Given the description of an element on the screen output the (x, y) to click on. 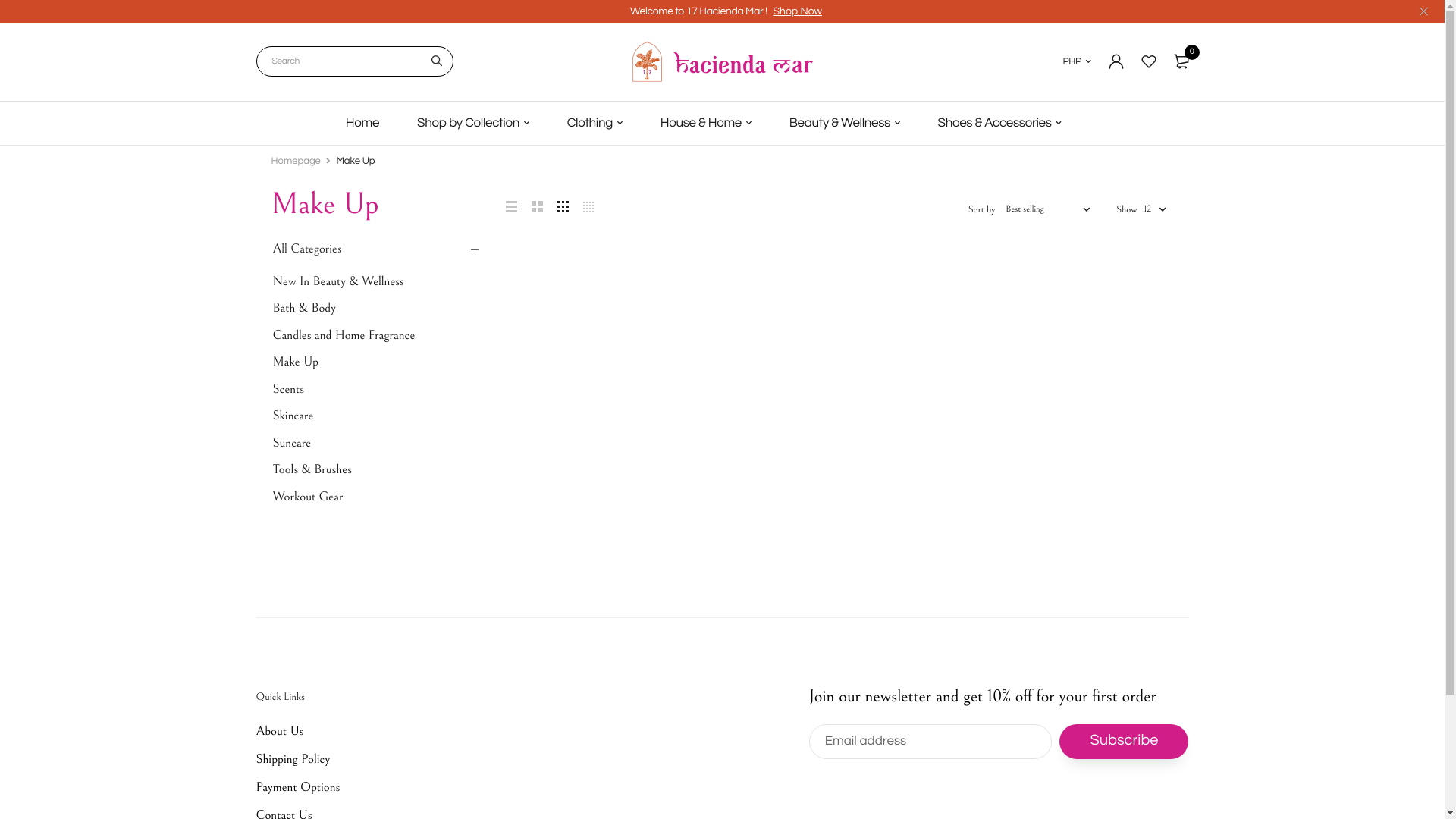
Skincare Element type: text (375, 416)
Homepage Element type: text (295, 159)
About Us Element type: text (280, 730)
Shipping Policy Element type: text (293, 758)
Beauty & Wellness Element type: text (844, 122)
Home Element type: text (362, 122)
New In Beauty & Wellness Element type: text (375, 281)
PHP Element type: text (1077, 61)
Bath & Body Element type: text (375, 308)
Shop Now Element type: text (797, 10)
House & Home Element type: text (705, 122)
Workout Gear Element type: text (375, 497)
Subscribe Element type: text (1123, 741)
Suncare Element type: text (375, 443)
Shop by Collection Element type: text (473, 122)
Payment Options Element type: text (298, 786)
Tools & Brushes Element type: text (375, 470)
Scents Element type: text (375, 389)
Make Up Element type: text (375, 362)
Shoes & Accessories Element type: text (999, 122)
Clothing Element type: text (594, 122)
Candles and Home Fragrance Element type: text (375, 335)
0 Element type: text (1181, 61)
